Given the description of an element on the screen output the (x, y) to click on. 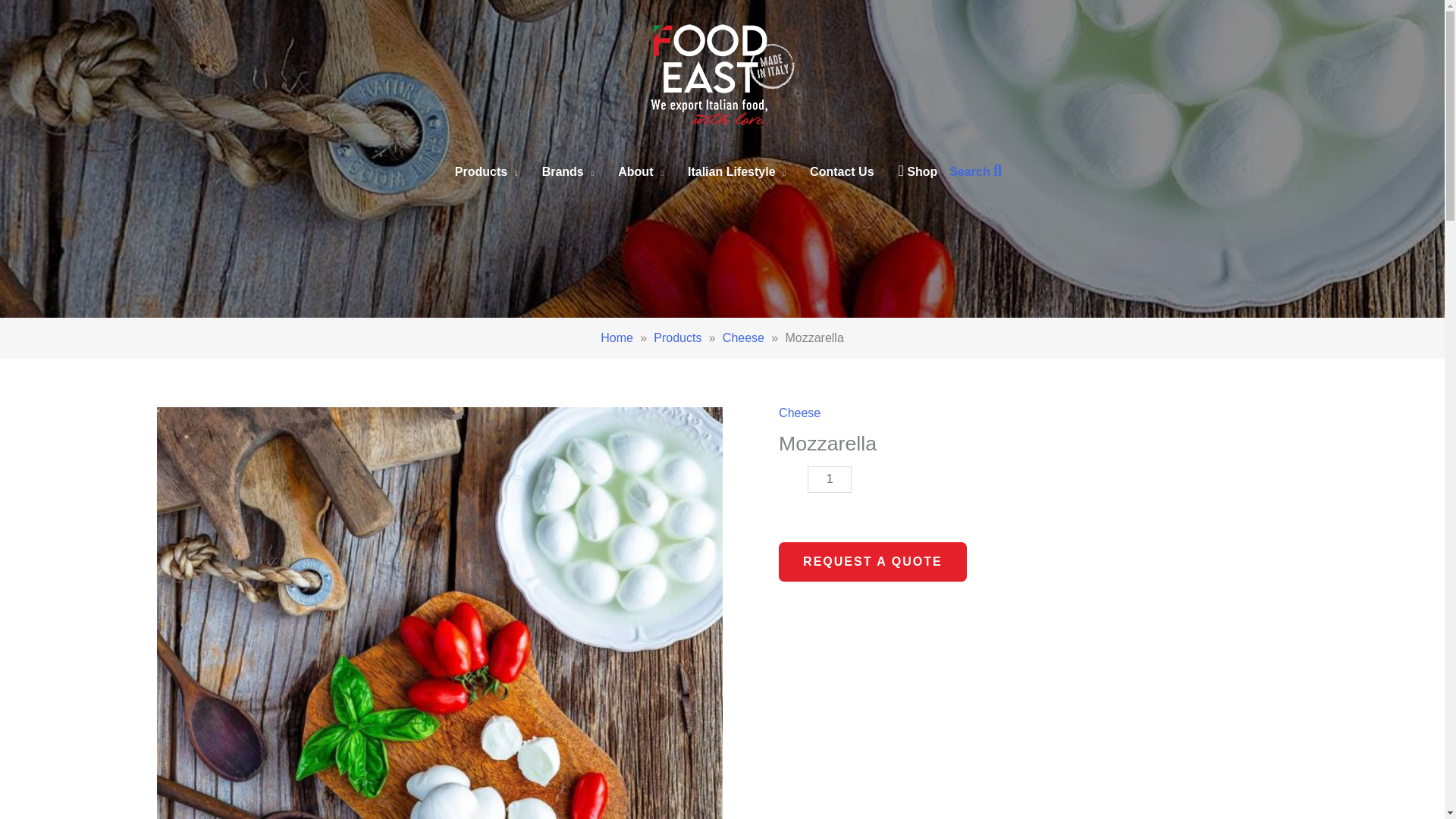
Search (975, 171)
Contact Us (841, 171)
Cheese (743, 337)
Brands (568, 171)
Products (677, 337)
Italian Lifestyle (736, 171)
1 (829, 479)
Products (485, 171)
Shop (918, 171)
Home (616, 337)
